Given the description of an element on the screen output the (x, y) to click on. 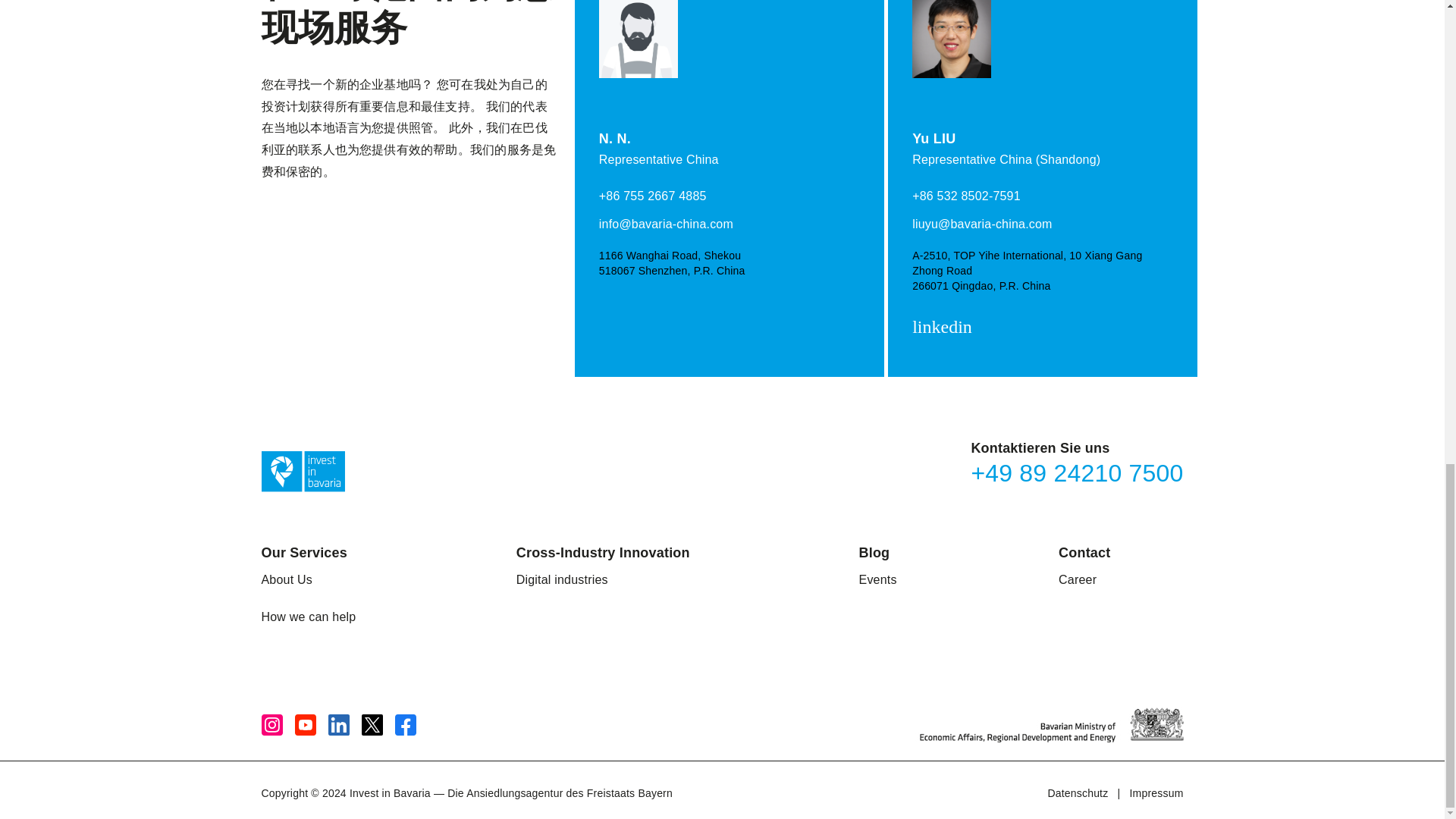
About Us (285, 580)
Blog (874, 552)
Our Services (303, 552)
How we can help (307, 617)
linkedin (945, 328)
Cross-Industry Innovation (603, 552)
Digital industries (562, 580)
Events (877, 580)
